Given the description of an element on the screen output the (x, y) to click on. 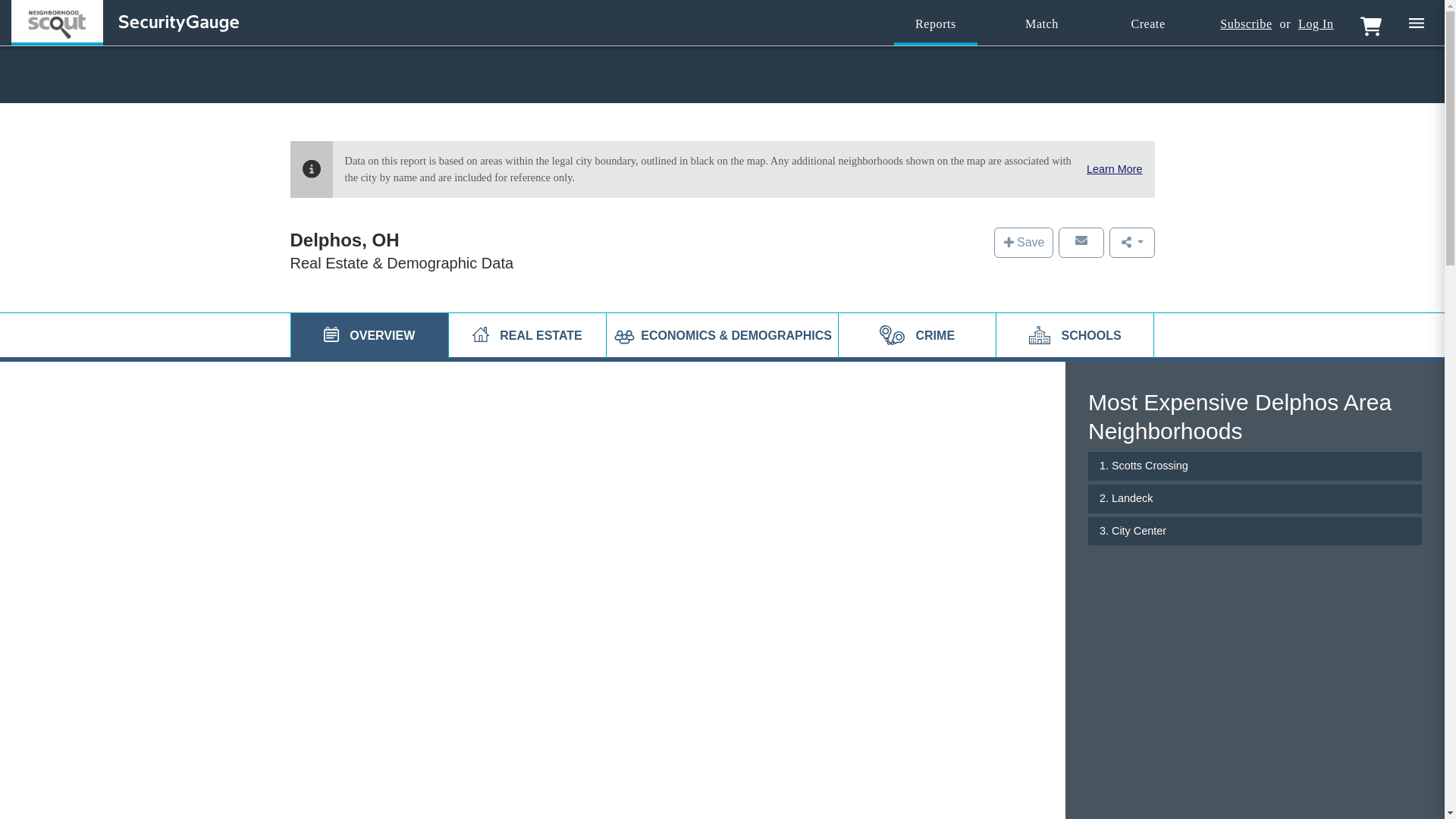
Create (1147, 24)
Subscribe (1245, 24)
j (331, 334)
Match (1041, 24)
Reports (934, 24)
Log In (1315, 24)
